Given the description of an element on the screen output the (x, y) to click on. 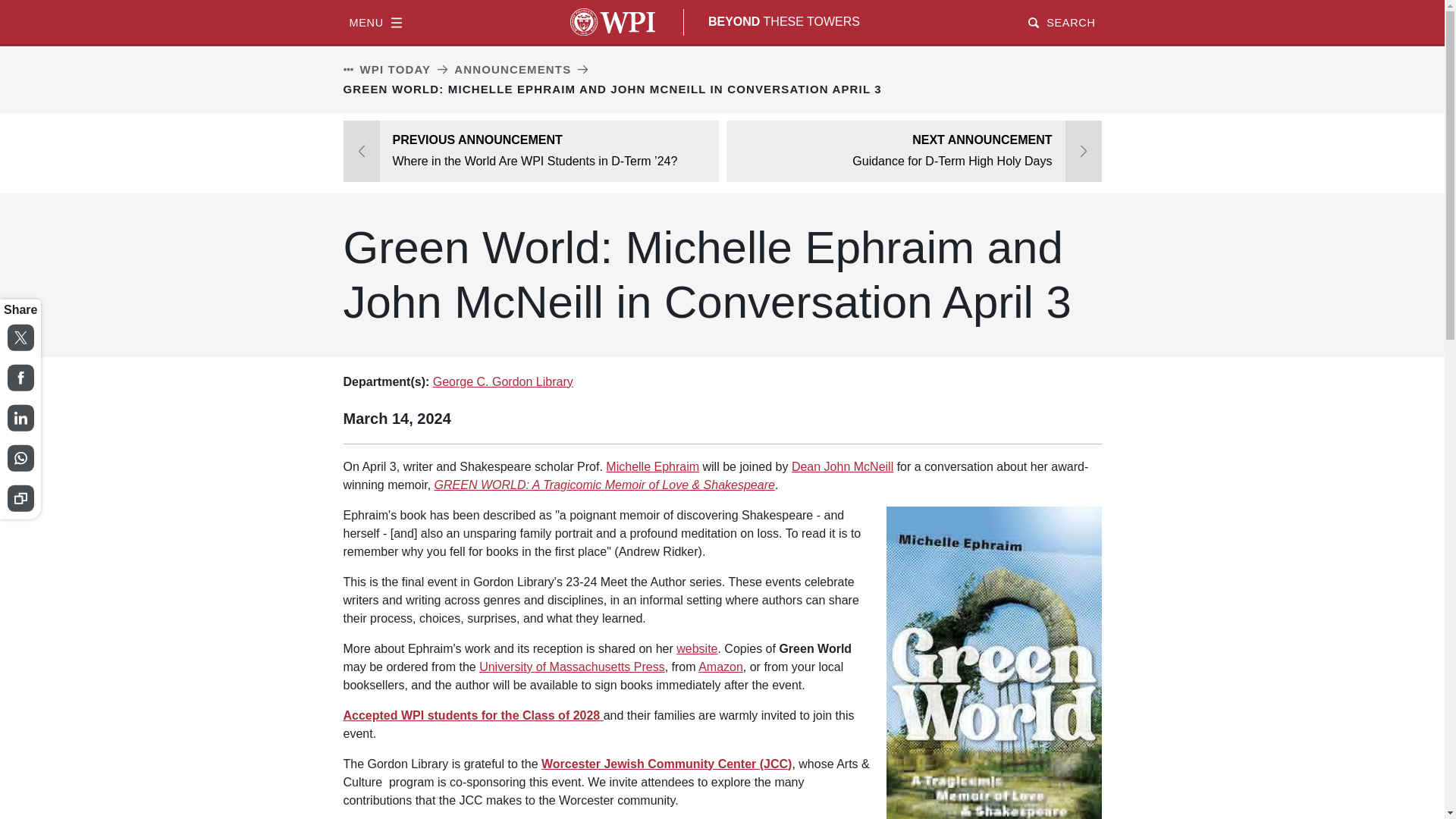
Skip to main content (721, 1)
WPI Home (612, 22)
BEYOND THESE TOWERS (783, 21)
SEARCH (1061, 21)
MENU (374, 21)
